Given the description of an element on the screen output the (x, y) to click on. 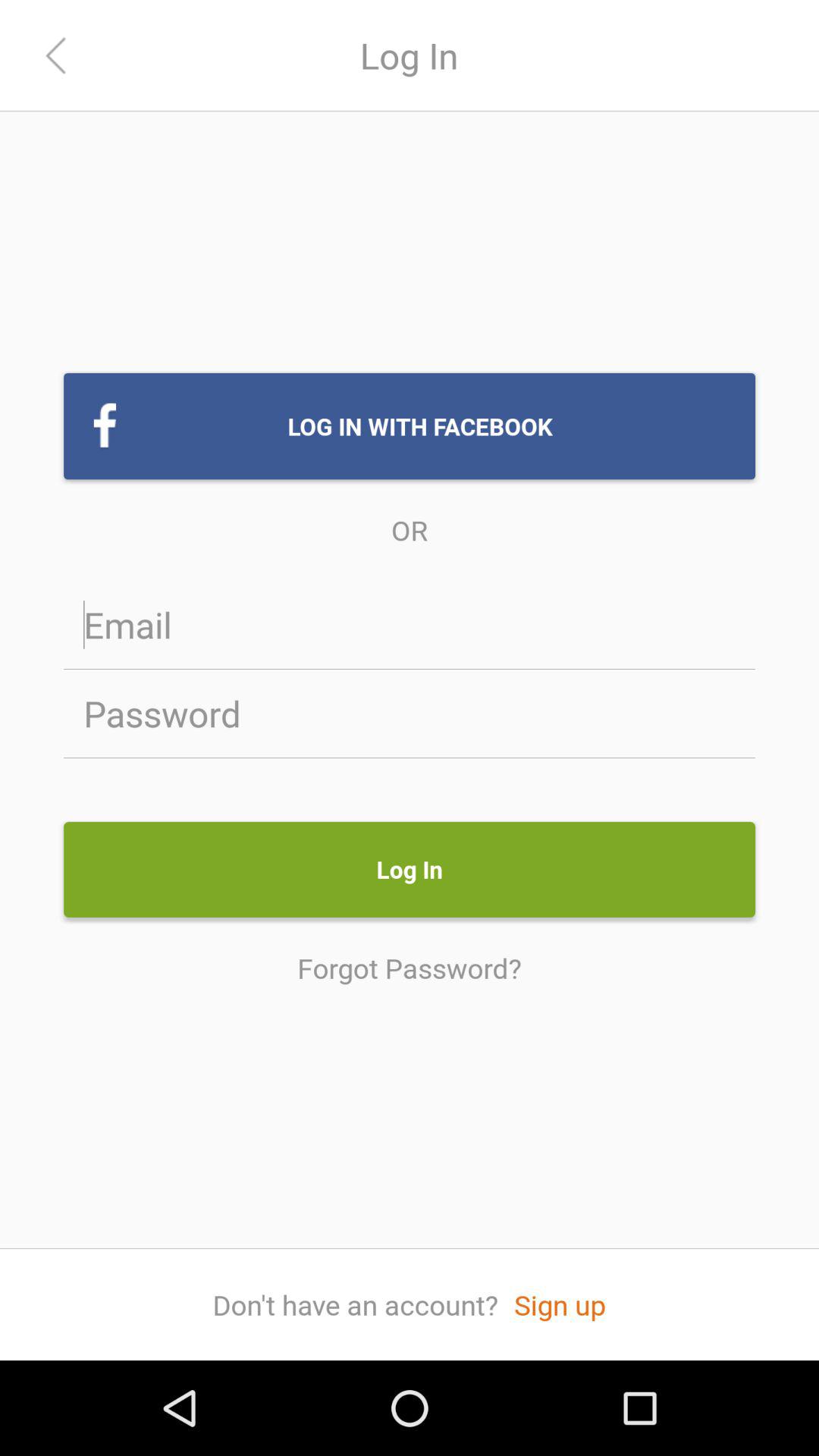
enter email (409, 624)
